Given the description of an element on the screen output the (x, y) to click on. 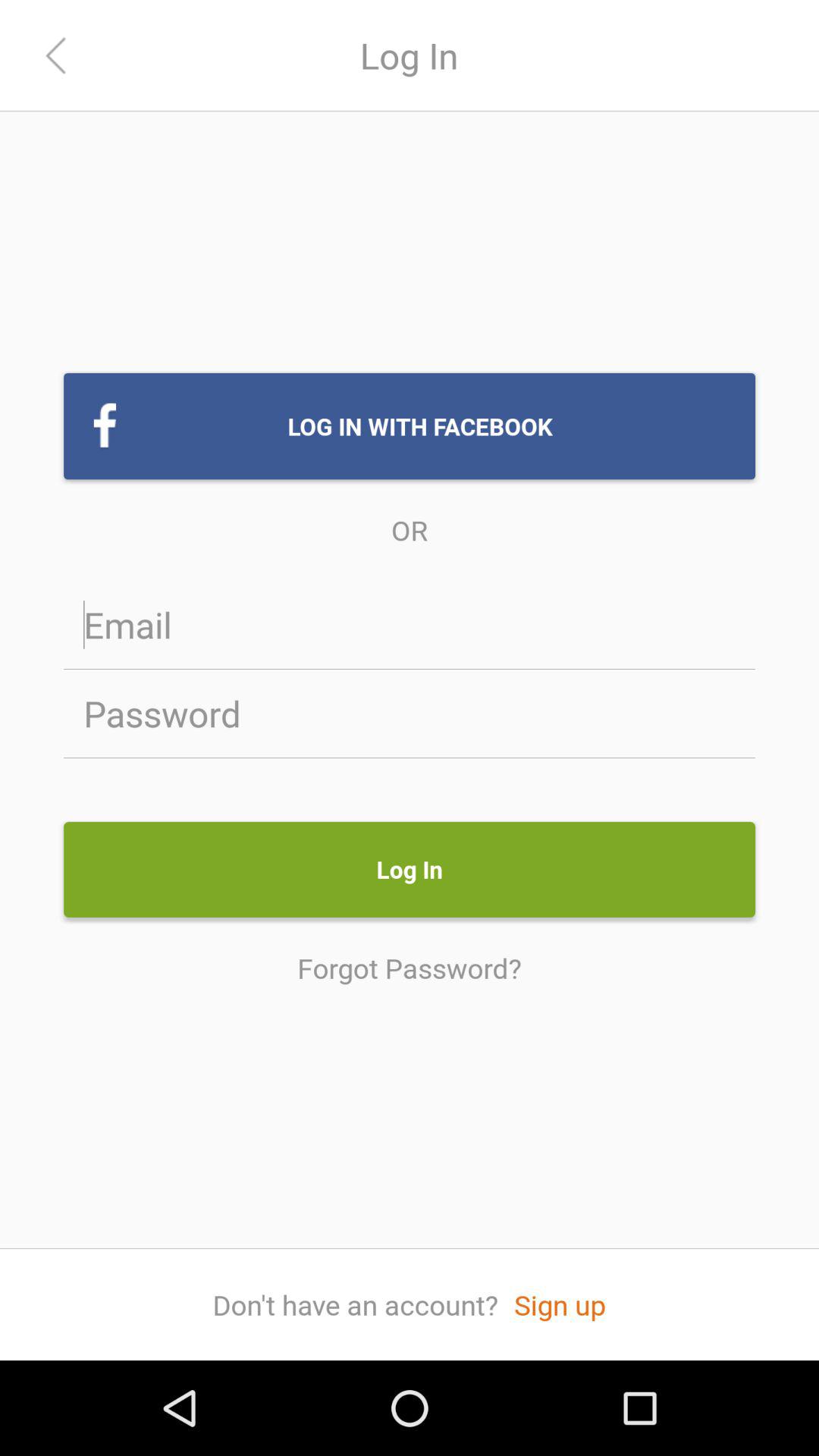
enter email (409, 624)
